Given the description of an element on the screen output the (x, y) to click on. 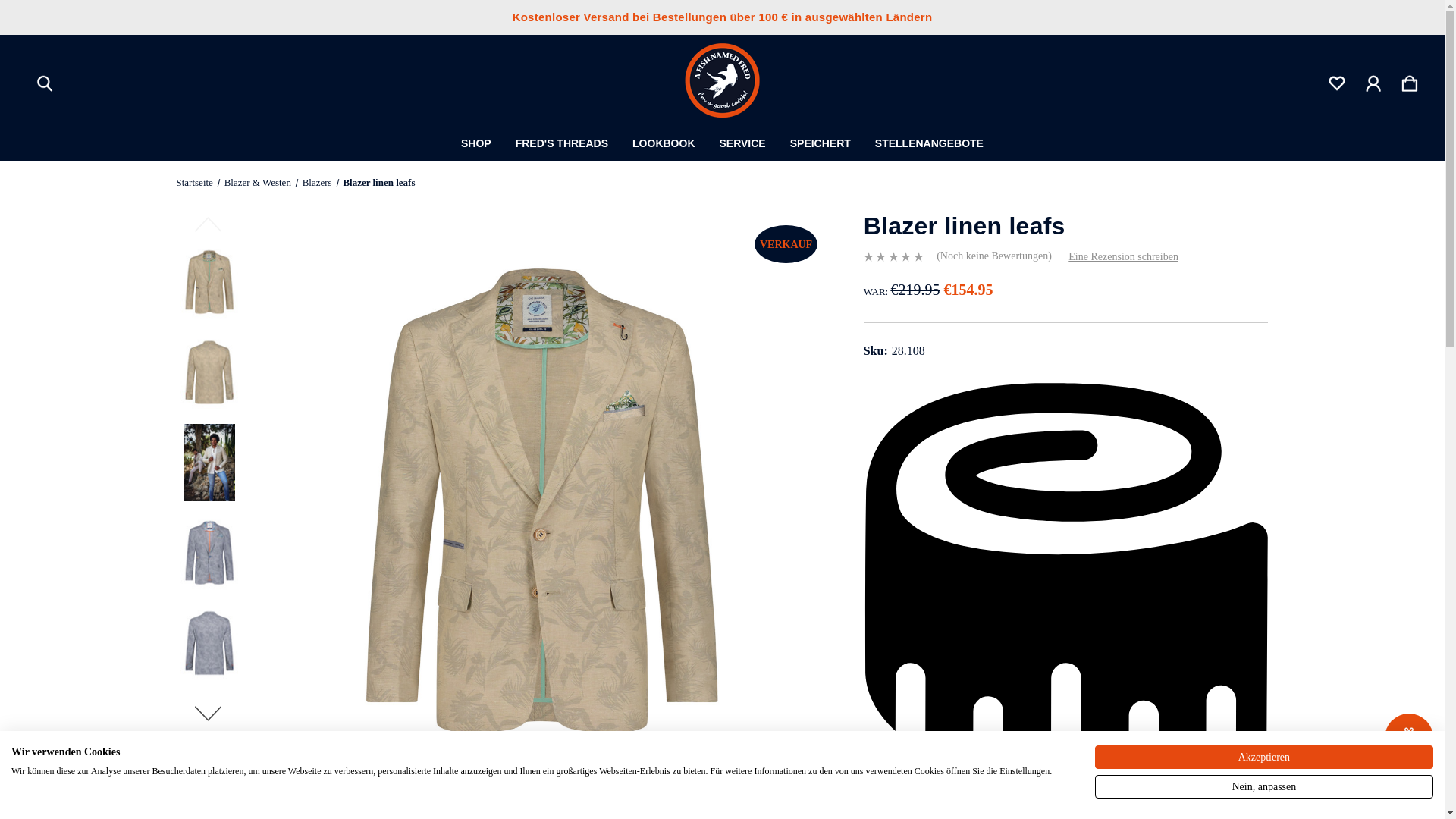
A fish named Fred (722, 79)
